Given the description of an element on the screen output the (x, y) to click on. 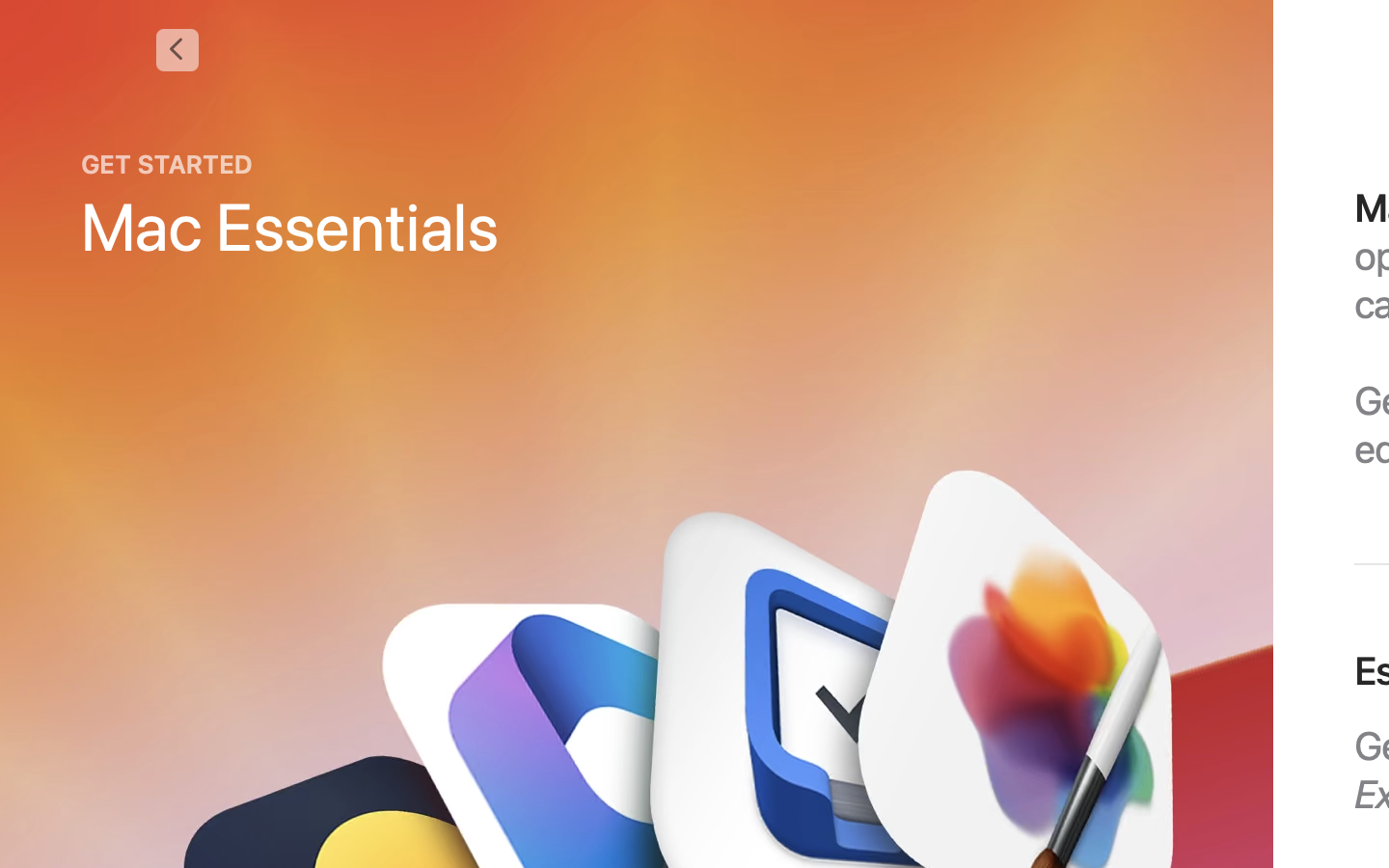
Mac Essentials Element type: AXStaticText (290, 225)
GET STARTED, Mac Essentials, Element type: AXStaticText (290, 207)
